Given the description of an element on the screen output the (x, y) to click on. 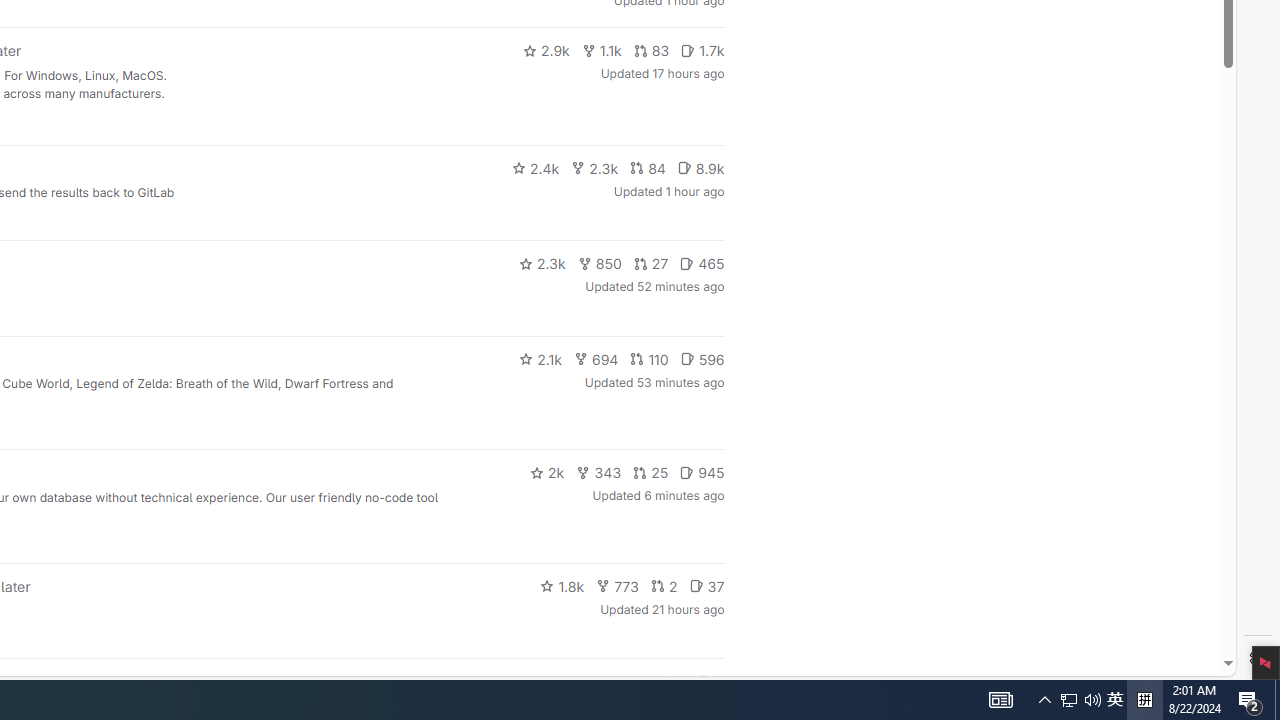
Tray Input Indicator - Chinese (Simplified, China) (1144, 699)
Show desktop (1277, 699)
596 (701, 358)
143 (629, 681)
850 (599, 263)
1 (1069, 699)
27 (673, 681)
Class: s14 gl-mr-2 (651, 263)
User Promoted Notification Area (704, 681)
2 (1080, 699)
AutomationID: 4105 (664, 585)
1.8k (1000, 699)
Action Center, 2 new notifications (562, 585)
6 (1250, 699)
